Given the description of an element on the screen output the (x, y) to click on. 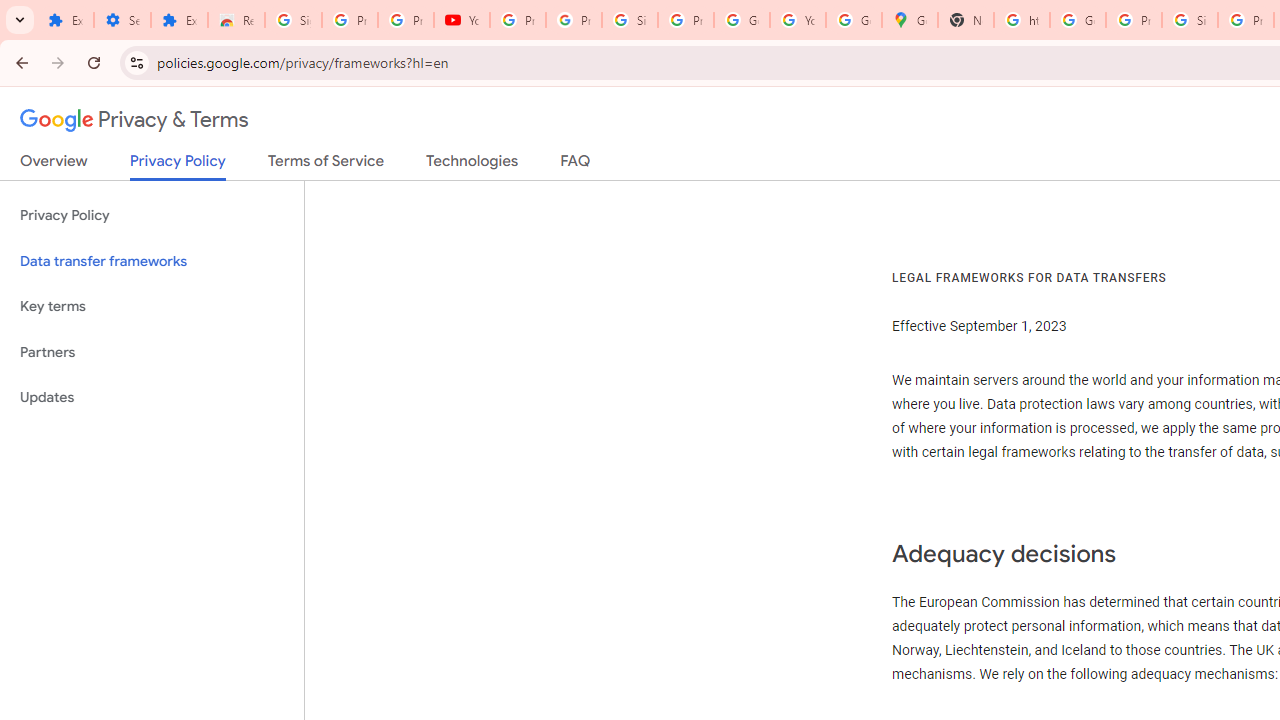
Reviews: Helix Fruit Jump Arcade Game (235, 20)
Extensions (65, 20)
